Given the description of an element on the screen output the (x, y) to click on. 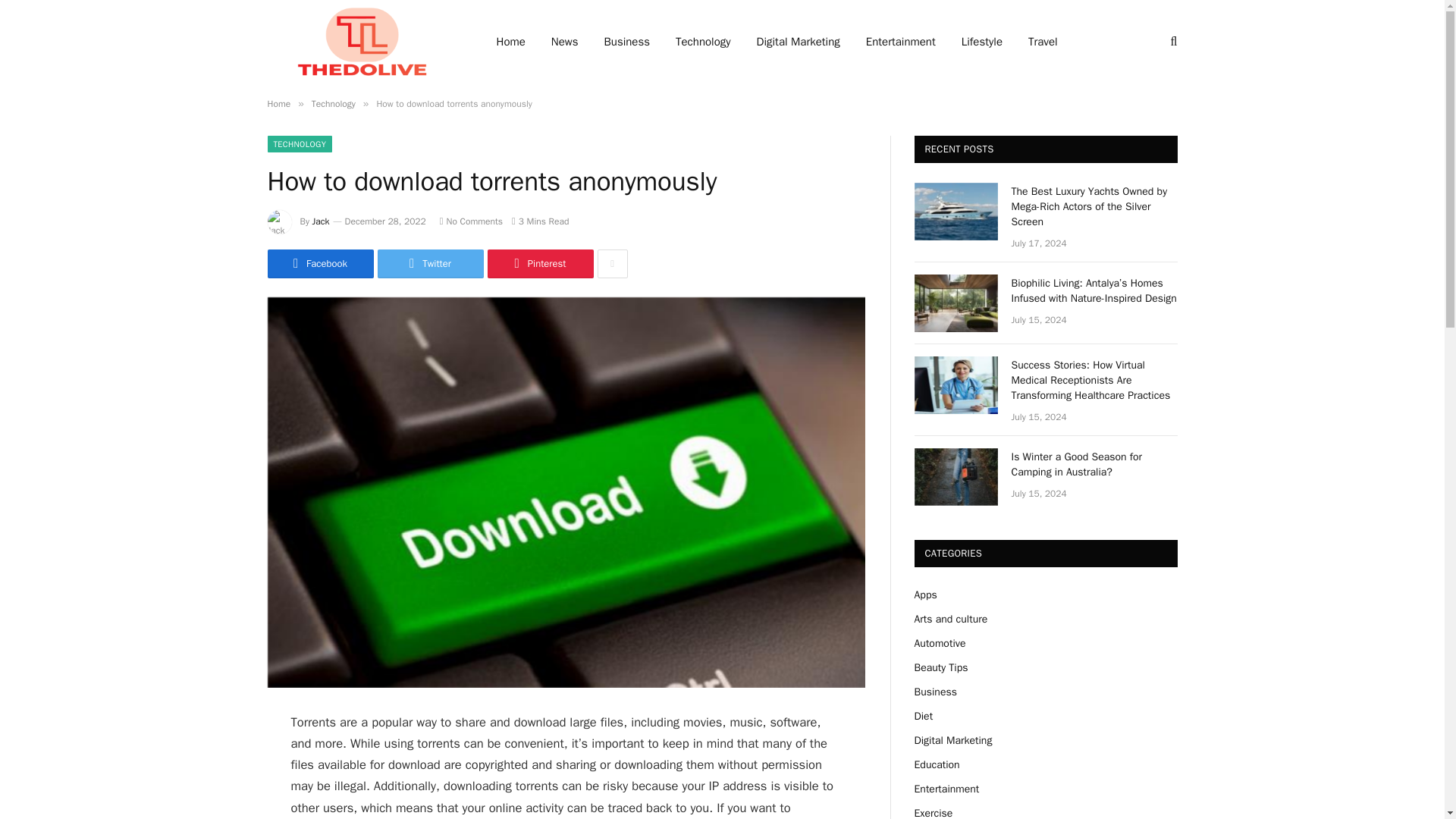
Home (277, 103)
Travel (1042, 41)
Entertainment (901, 41)
Business (627, 41)
TECHNOLOGY (298, 143)
Technology (333, 103)
Show More Social Sharing (611, 263)
No Comments (470, 221)
Share on Facebook (319, 263)
Pinterest (539, 263)
News (564, 41)
Thedolive (361, 41)
Jack (321, 221)
Twitter (430, 263)
